Given the description of an element on the screen output the (x, y) to click on. 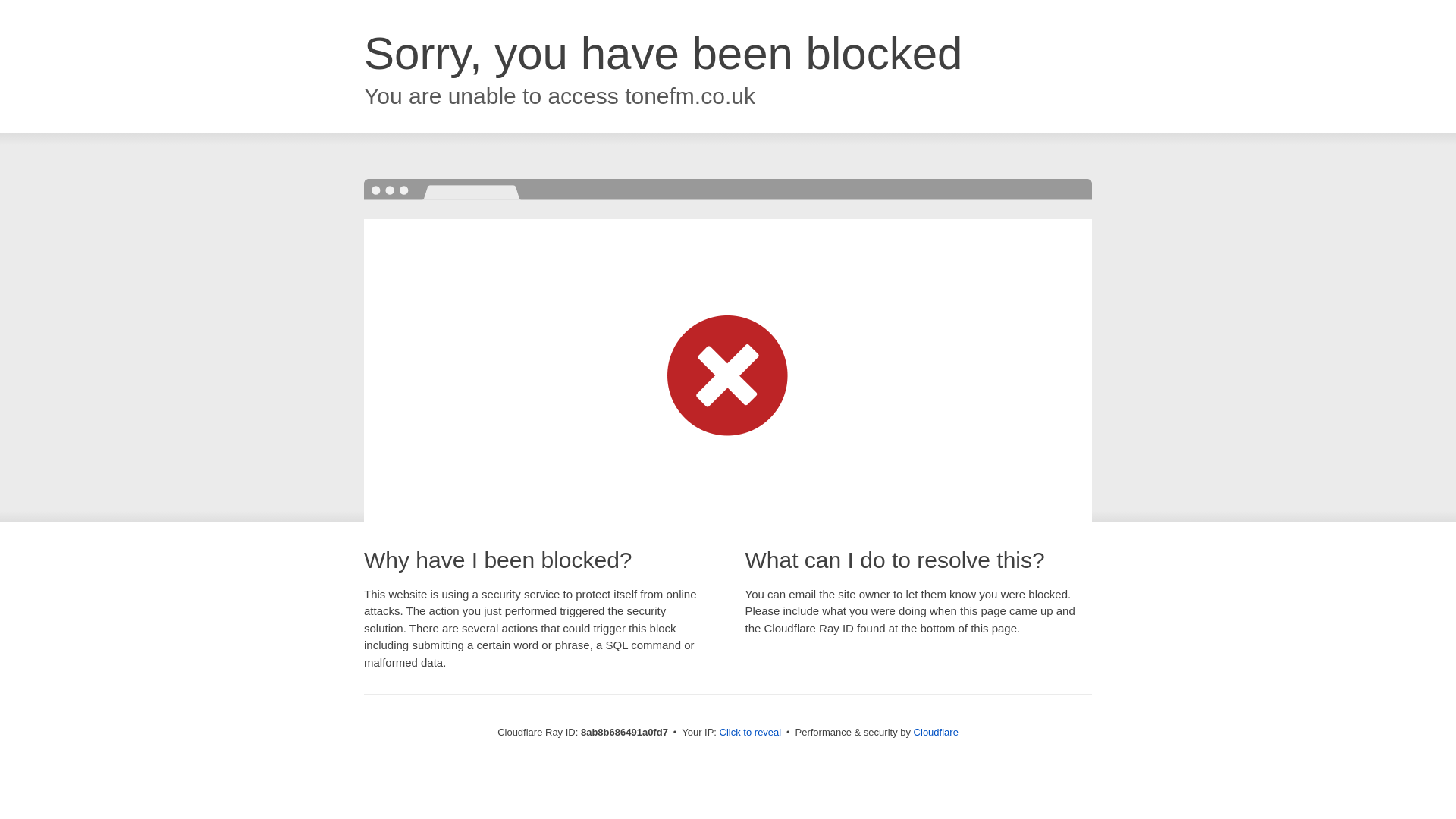
Cloudflare (936, 731)
Click to reveal (750, 732)
